Given the description of an element on the screen output the (x, y) to click on. 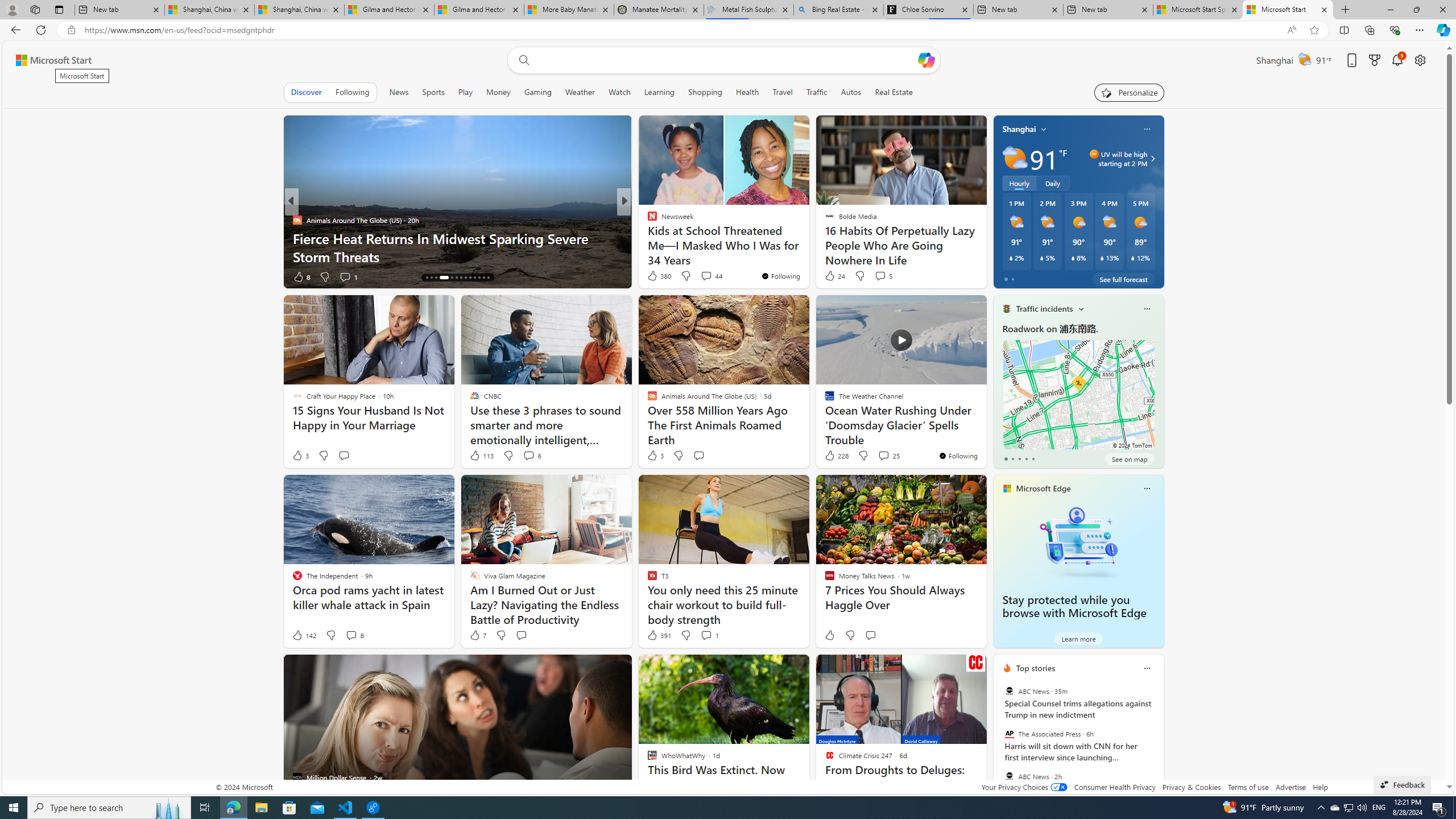
View comments 29 Comment (6, 276)
AutomationID: tab-26 (488, 277)
Inc. (647, 219)
24 Like (834, 275)
View comments 3 Comment (705, 276)
391 Like (658, 634)
AutomationID: tab-18 (451, 277)
You're following Newsweek (780, 275)
